Given the description of an element on the screen output the (x, y) to click on. 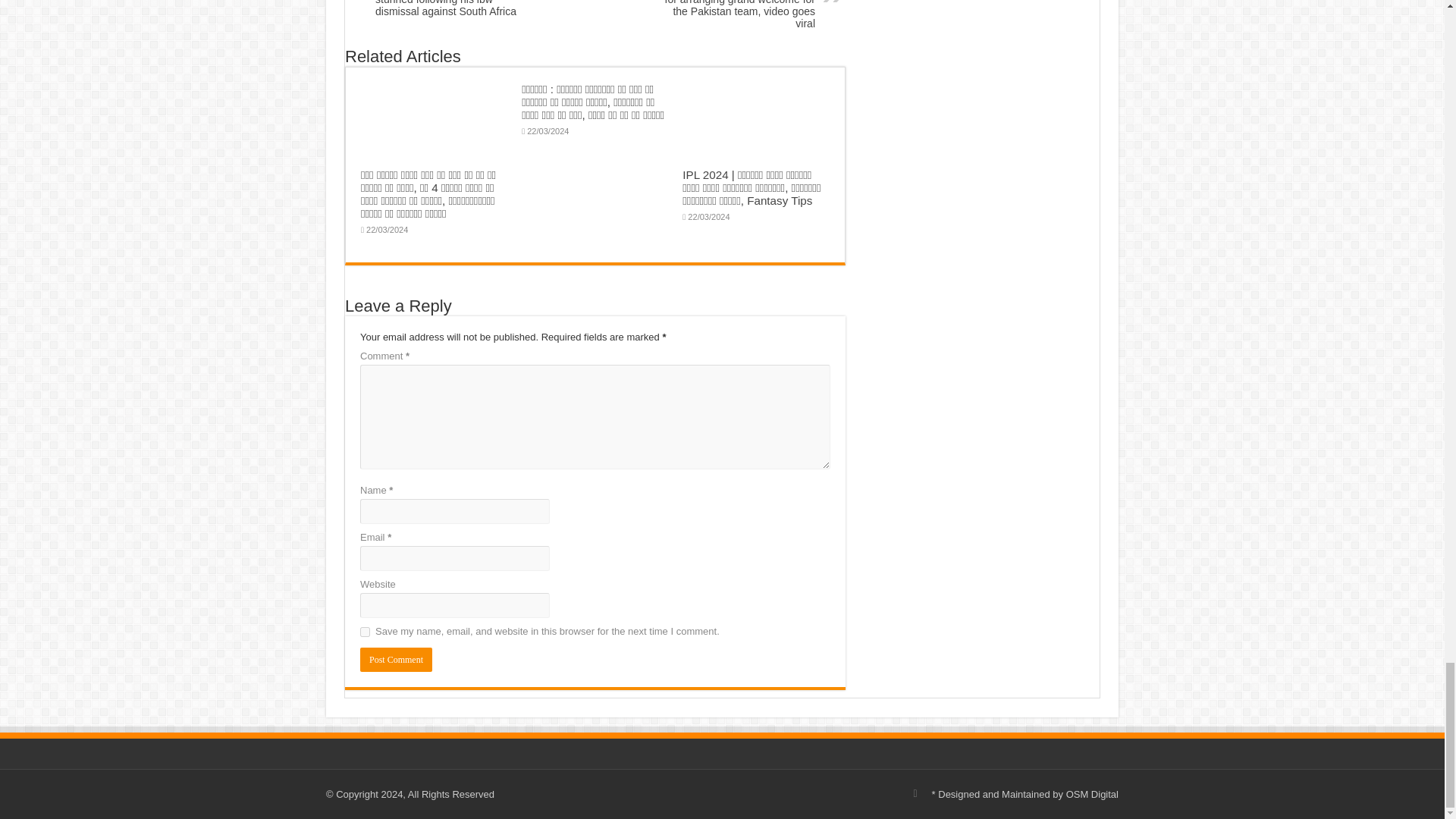
Post Comment (395, 659)
OSM Digital (1091, 794)
Post Comment (395, 659)
yes (364, 632)
